Given the description of an element on the screen output the (x, y) to click on. 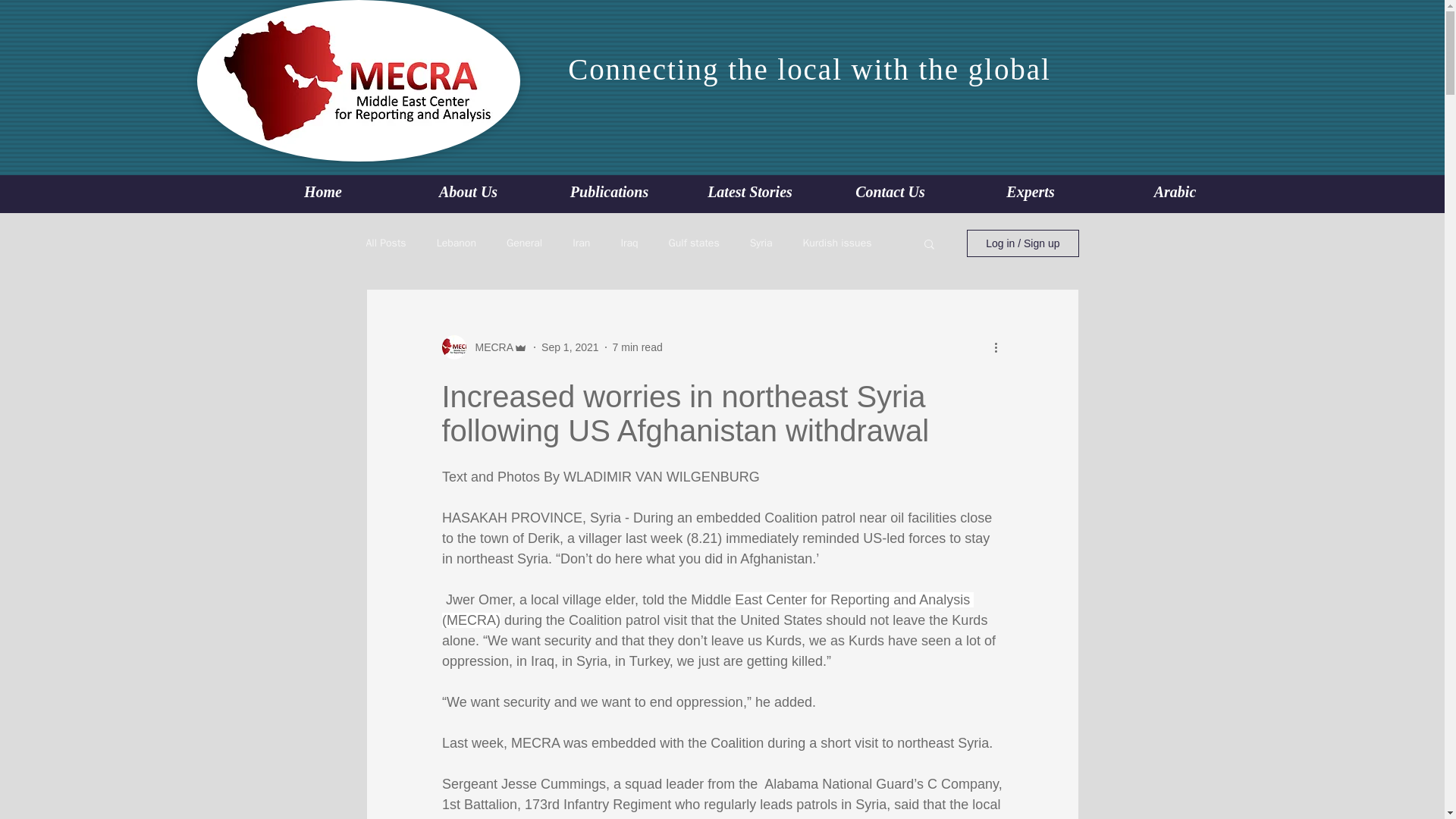
Home (326, 192)
Arabic (1170, 192)
Gulf states (693, 243)
Latest Stories (749, 192)
Experts (1029, 192)
Sep 1, 2021 (569, 346)
About Us (467, 192)
7 min read (637, 346)
Syria (761, 243)
MECRA (489, 347)
